Given the description of an element on the screen output the (x, y) to click on. 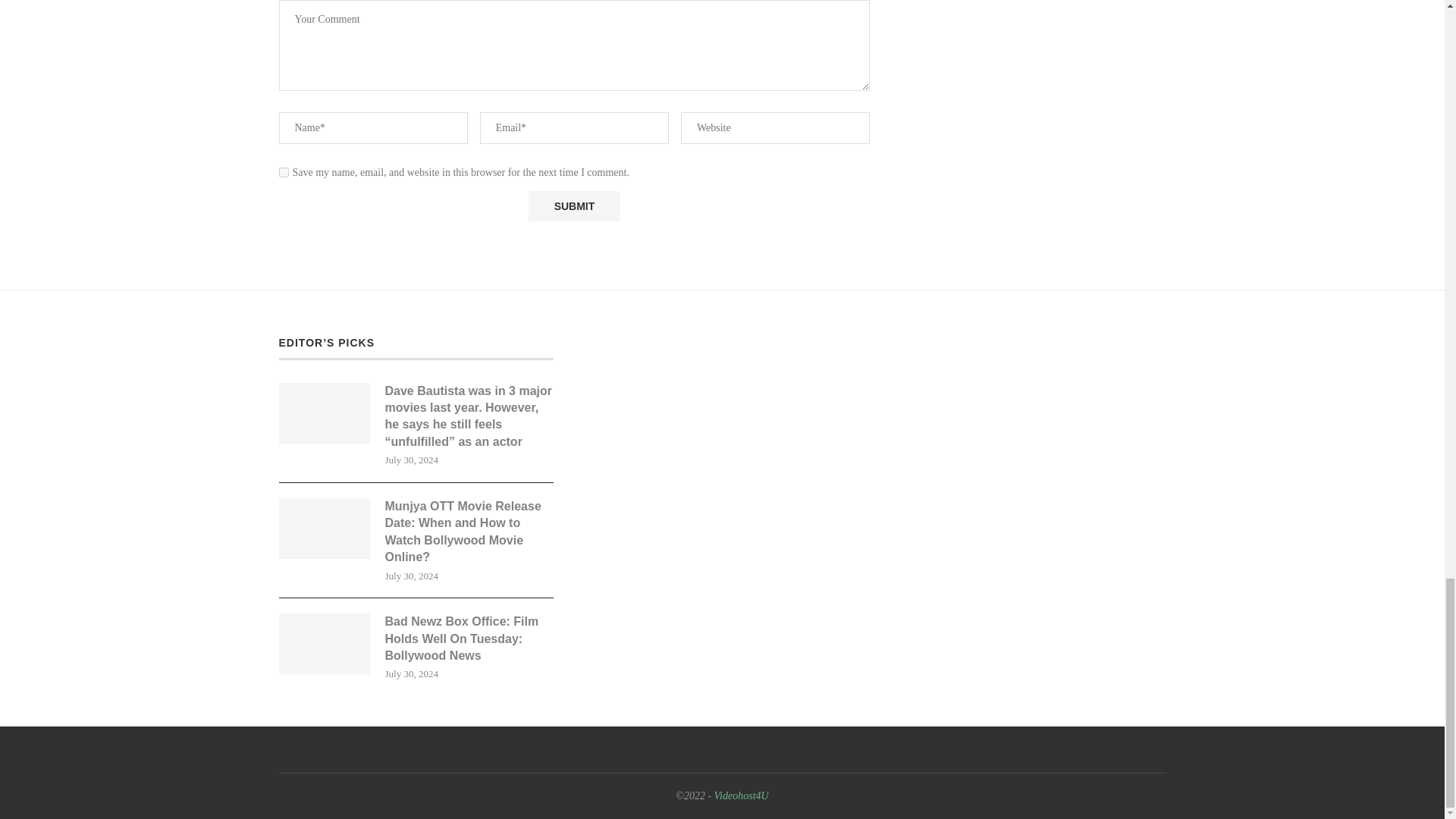
yes (283, 172)
Submit (574, 205)
